Given the description of an element on the screen output the (x, y) to click on. 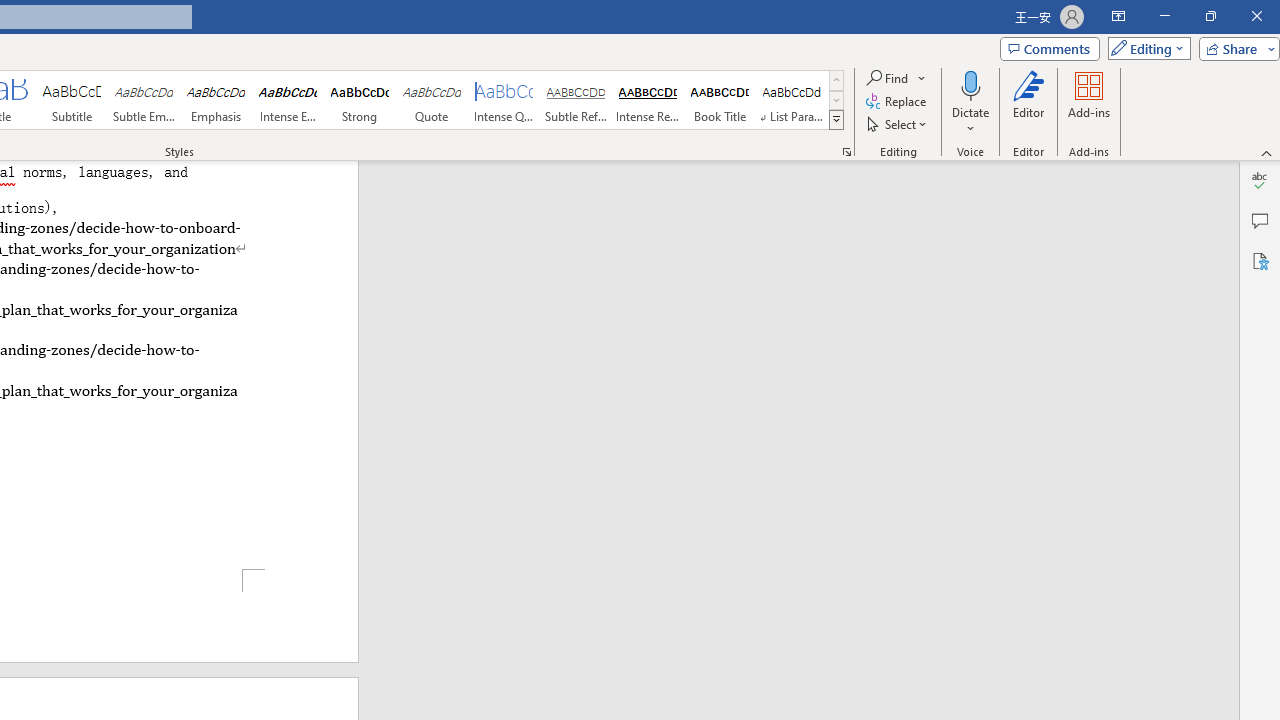
Styles (836, 120)
Styles... (846, 151)
Row Down (836, 100)
